Given the description of an element on the screen output the (x, y) to click on. 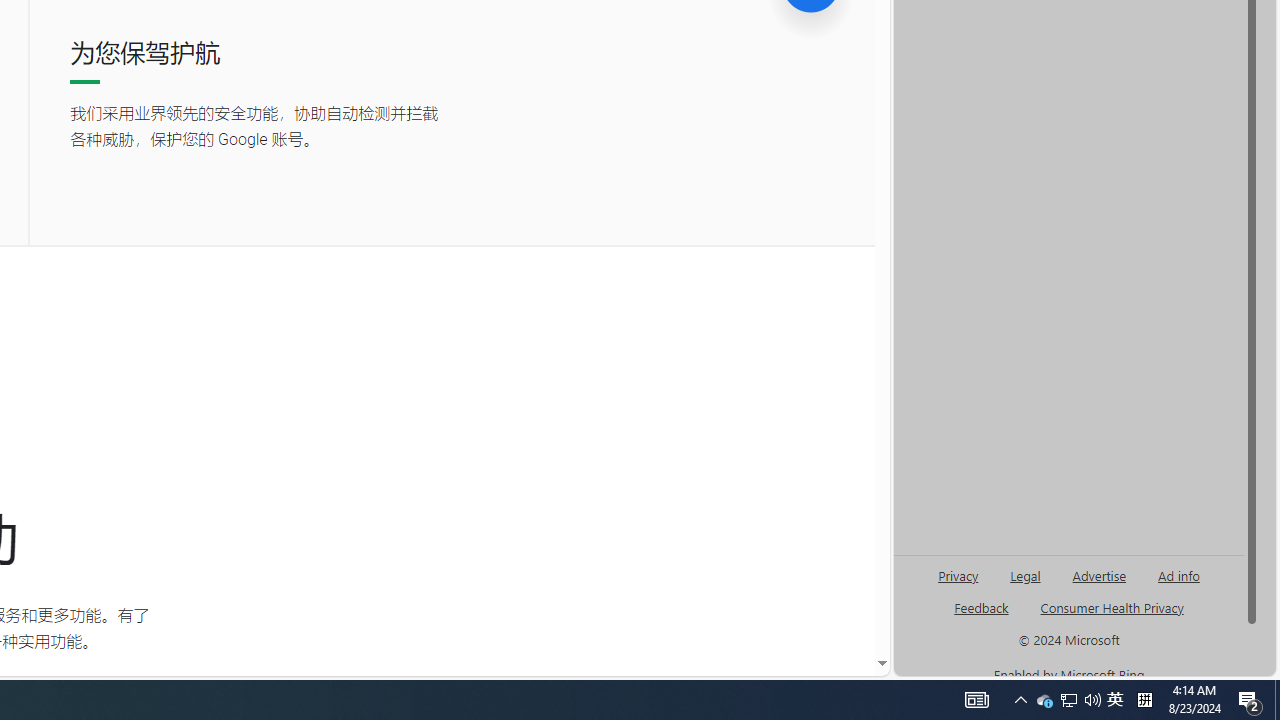
AutomationID: genId96 (981, 615)
AutomationID: sb_feedback (980, 607)
